Given the description of an element on the screen output the (x, y) to click on. 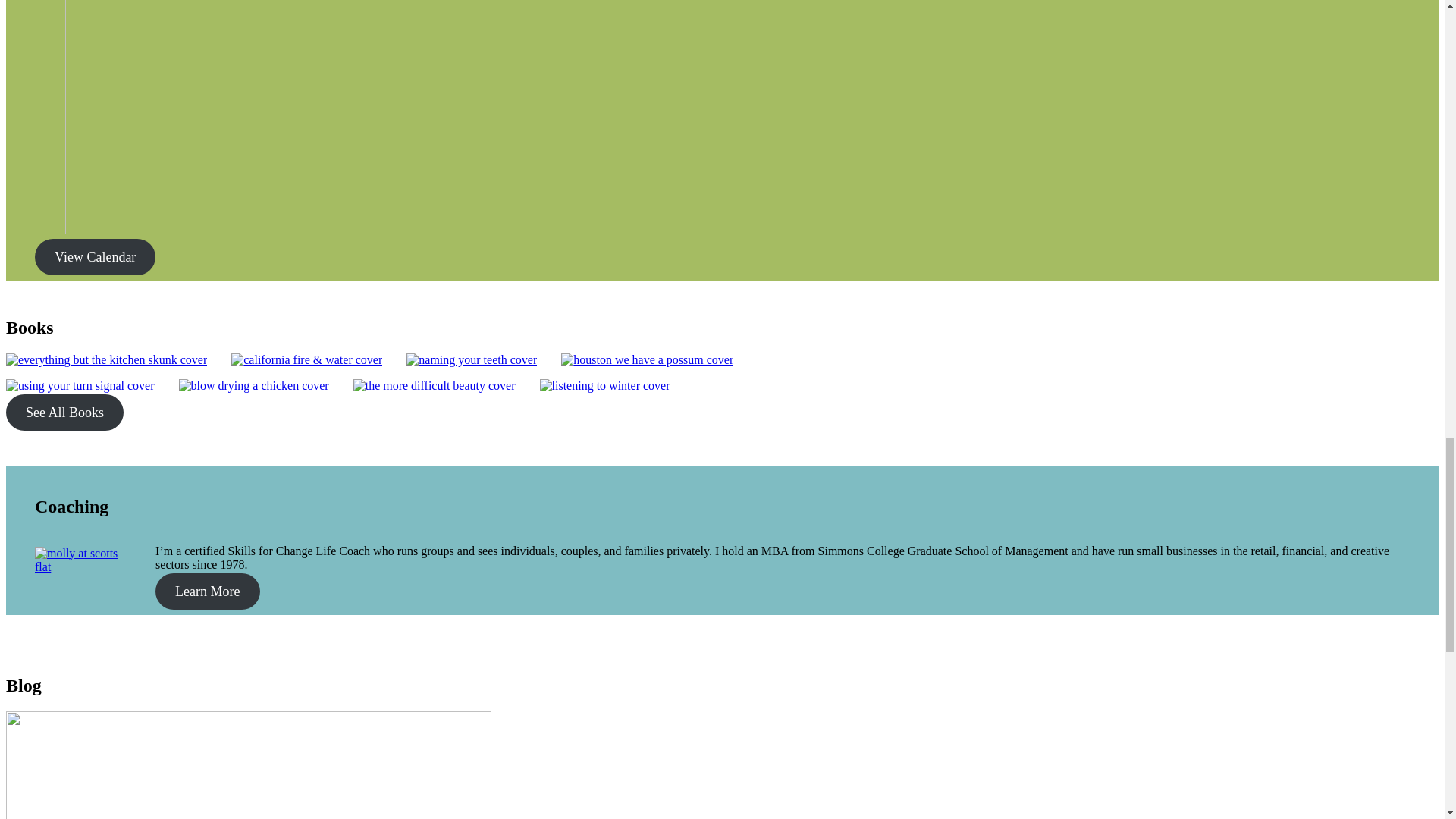
See All Books (64, 411)
Learn More (207, 591)
View Calendar (94, 256)
